Given the description of an element on the screen output the (x, y) to click on. 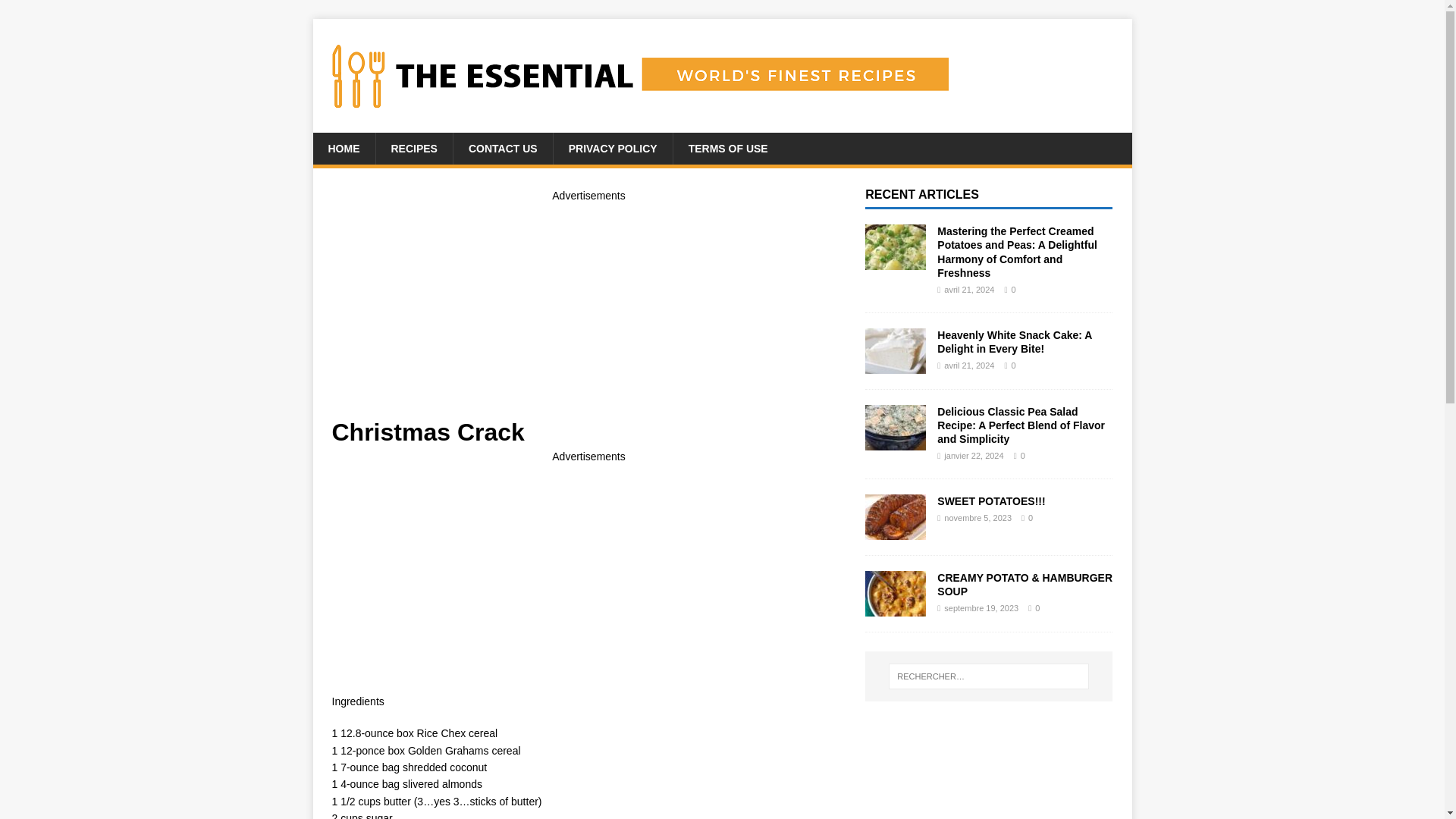
Heavenly White Snack Cake: A Delight in Every Bite! (895, 364)
RECIPES (412, 148)
Rechercher (56, 11)
Heavenly White Snack Cake: A Delight in Every Bite! (1014, 341)
HOME (343, 148)
SWEET POTATOES!!! (895, 530)
SWEET POTATOES!!! (991, 500)
SWEET POTATOES!!! (991, 500)
